Given the description of an element on the screen output the (x, y) to click on. 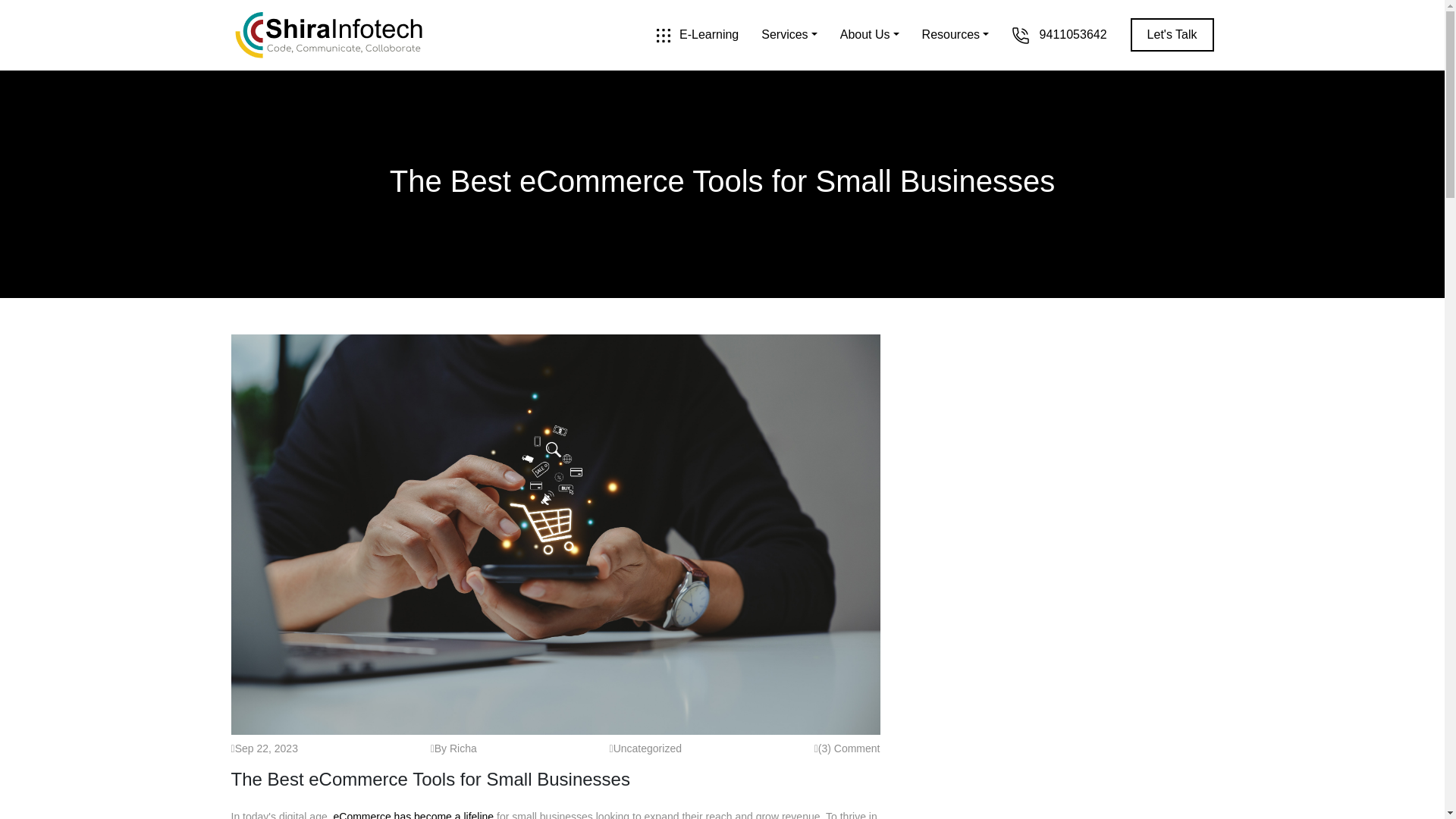
E-Learning (698, 34)
9411053642 (1059, 35)
Resources (956, 34)
About Us (869, 34)
Services (788, 34)
eCommerce has become a lifeline (413, 814)
Let's Talk (1172, 34)
